Given the description of an element on the screen output the (x, y) to click on. 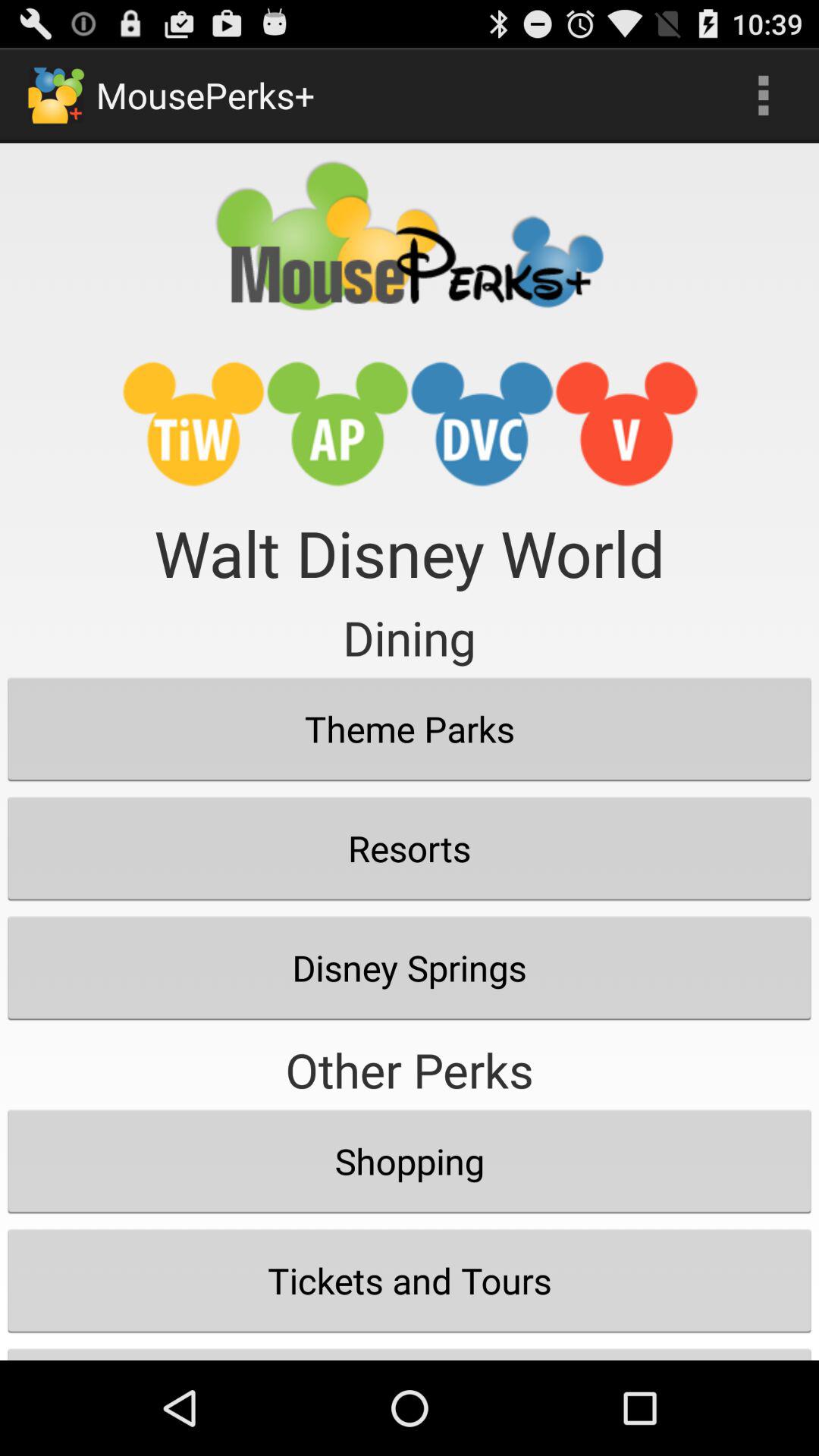
swipe to the recreation and relaxation (409, 1350)
